Given the description of an element on the screen output the (x, y) to click on. 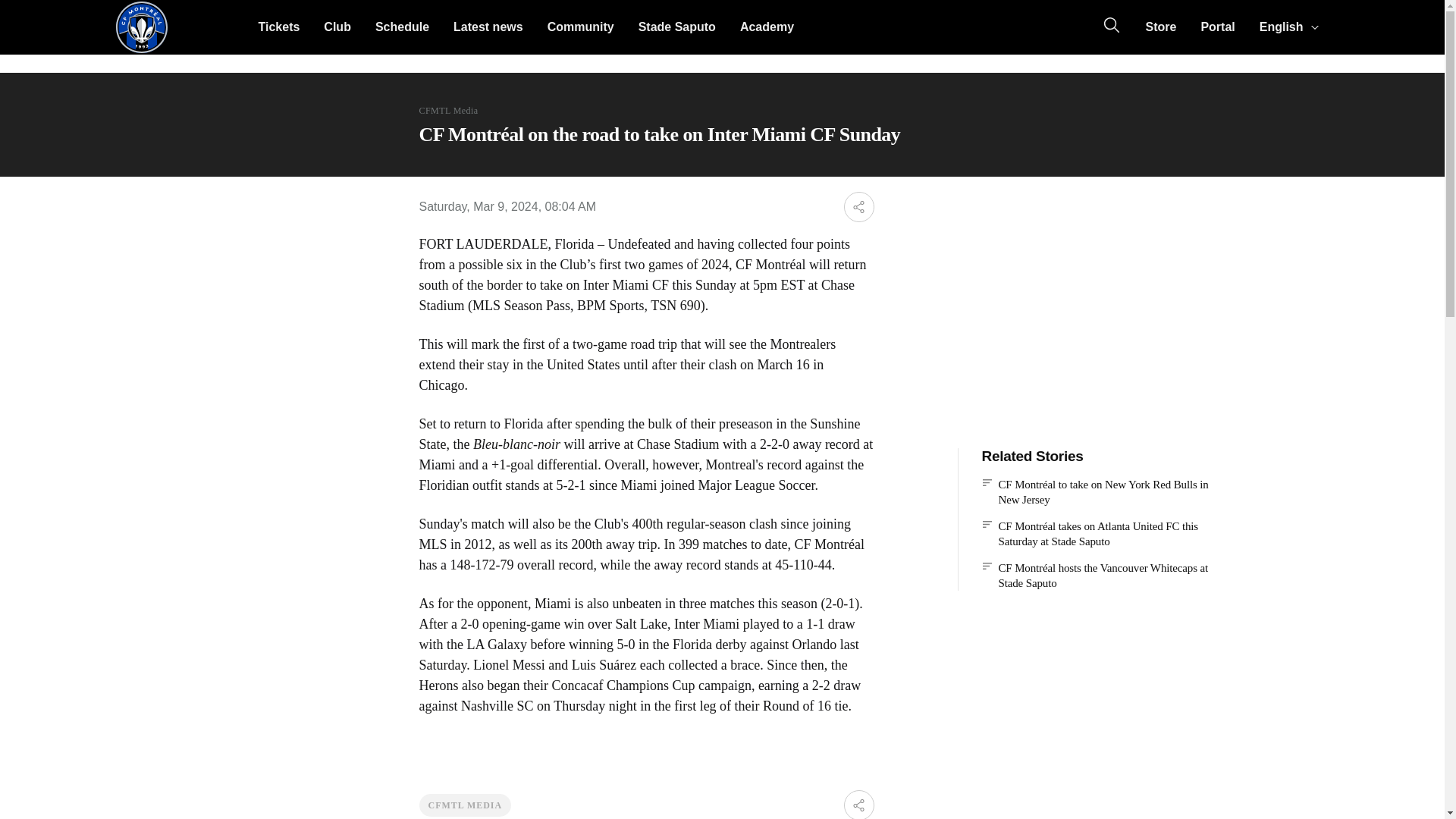
Latest news (488, 26)
Schedule (401, 26)
Club (336, 26)
Portal (1217, 26)
Stade Saputo (677, 26)
3rd party ad content (1094, 732)
3rd party ad content (1094, 298)
Store (1160, 26)
Academy (767, 26)
3rd party ad content (209, 27)
Tickets (278, 26)
Community (580, 26)
English (1288, 27)
